Given the description of an element on the screen output the (x, y) to click on. 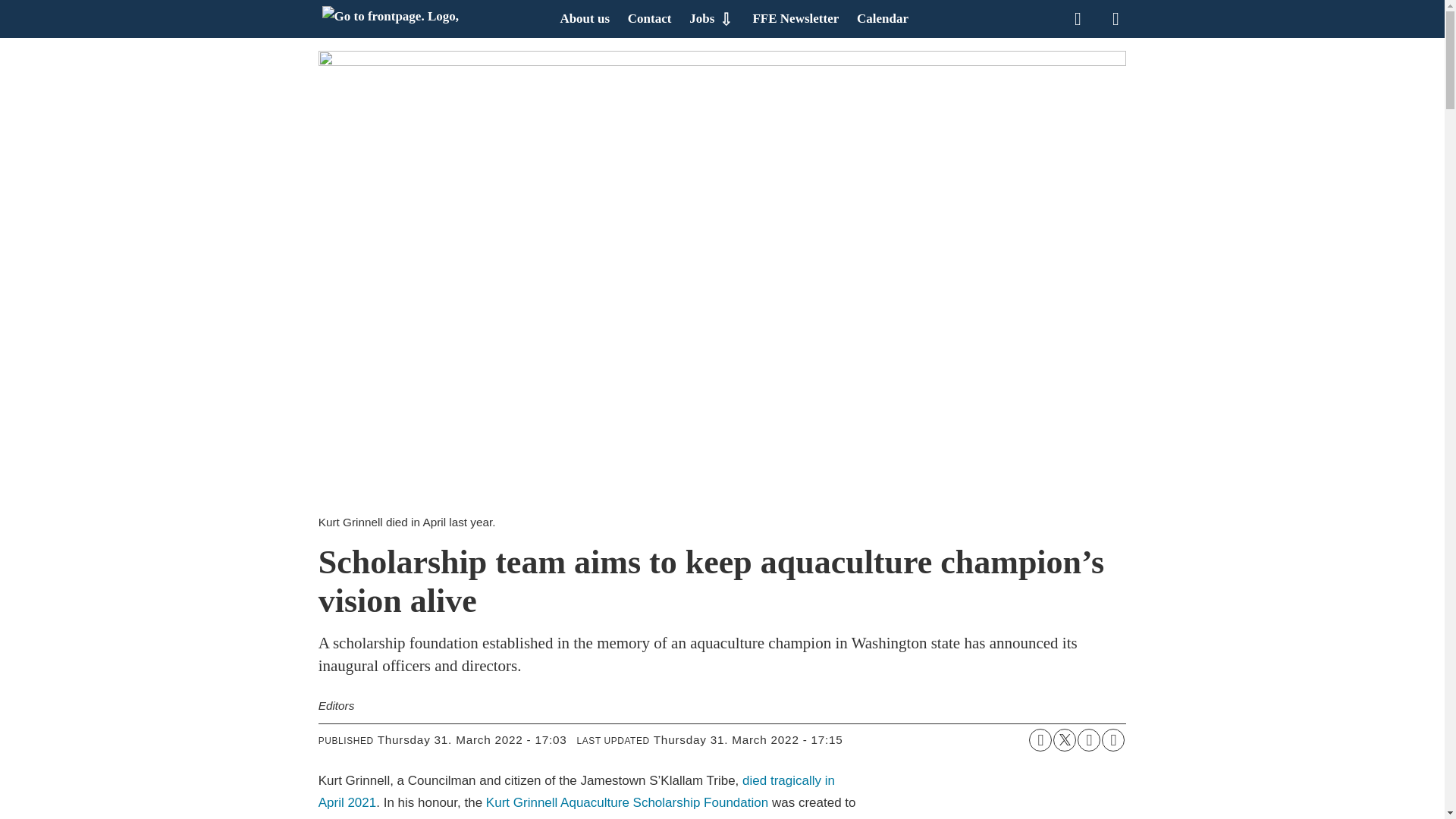
Published thursday 31. March 2022 - 17:03 (472, 740)
Calendar (882, 18)
FFE Newsletter (795, 18)
Last updated thursday 31. March 2022 - 17:15 (748, 740)
Contact (649, 18)
died tragically in April 2021 (576, 791)
Kurt Grinnell Aquaculture Scholarship Foundation (627, 802)
About us (584, 18)
